Given the description of an element on the screen output the (x, y) to click on. 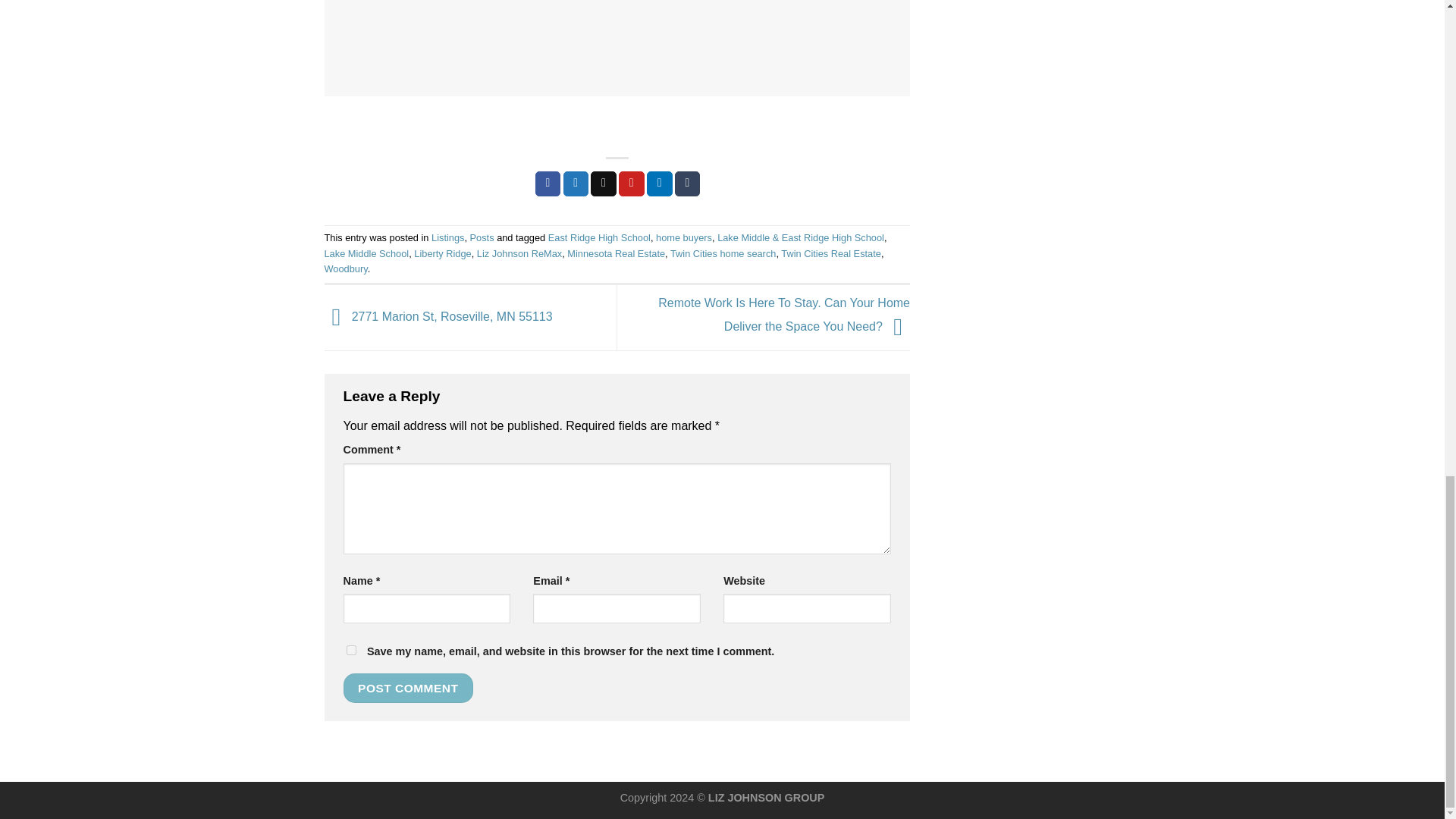
Woodbury (346, 268)
Liberty Ridge (441, 253)
Email to a Friend (603, 184)
Listings (447, 237)
home buyers (683, 237)
2771 Marion St, Roseville, MN 55113 (438, 317)
Share on LinkedIn (659, 184)
yes (350, 650)
Share on Twitter (576, 184)
Minnesota Real Estate (616, 253)
Twin Cities home search (722, 253)
Pin on Pinterest (631, 184)
Twin Cities Real Estate (830, 253)
Lake Middle School (366, 253)
